Given the description of an element on the screen output the (x, y) to click on. 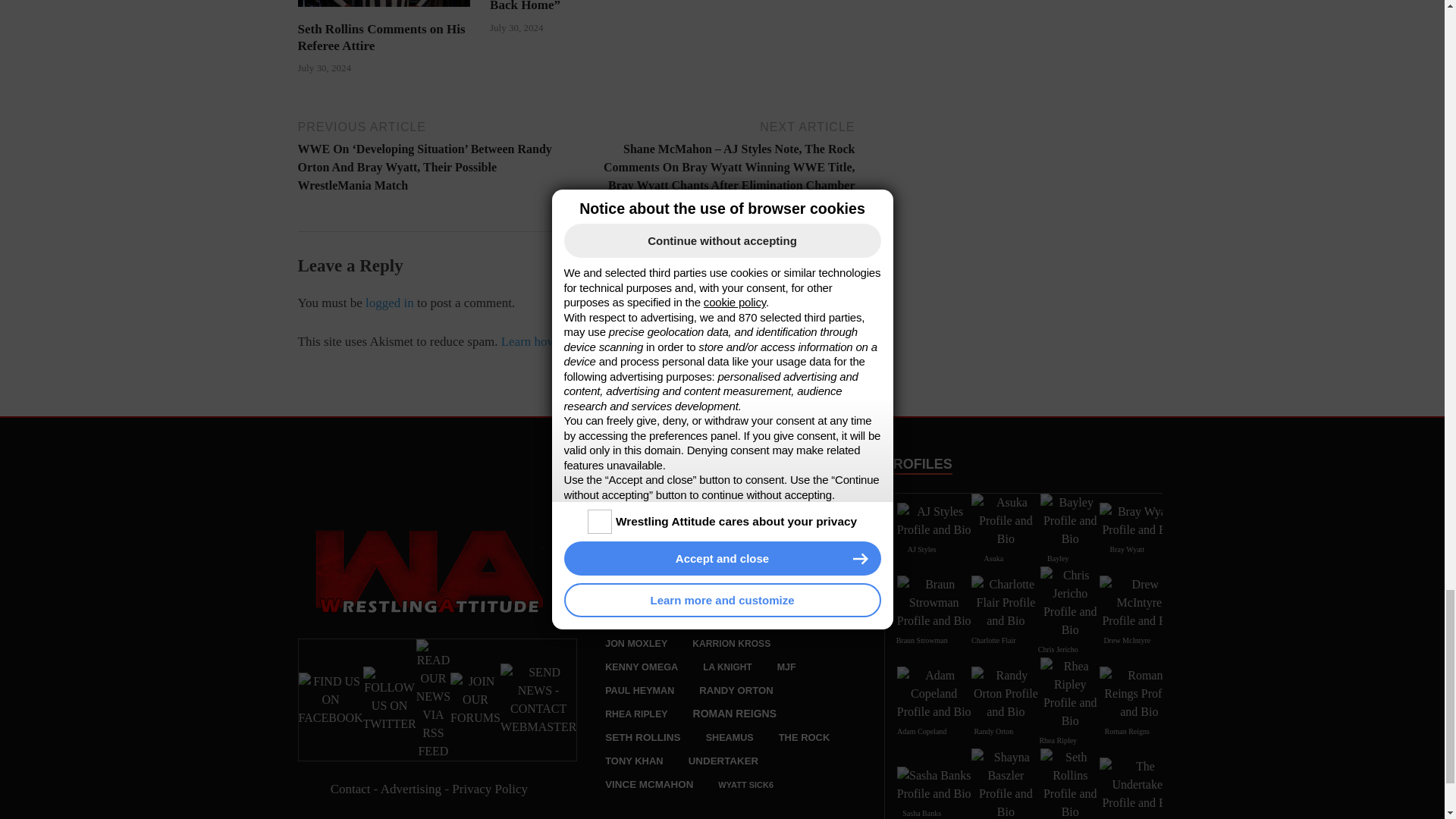
Seth Rollins Comments on His Referee Attire (383, 11)
Seth Rollins Comments on His Referee Attire (380, 37)
Seth Rollins Comments on His Referee Attire (383, 3)
